Given the description of an element on the screen output the (x, y) to click on. 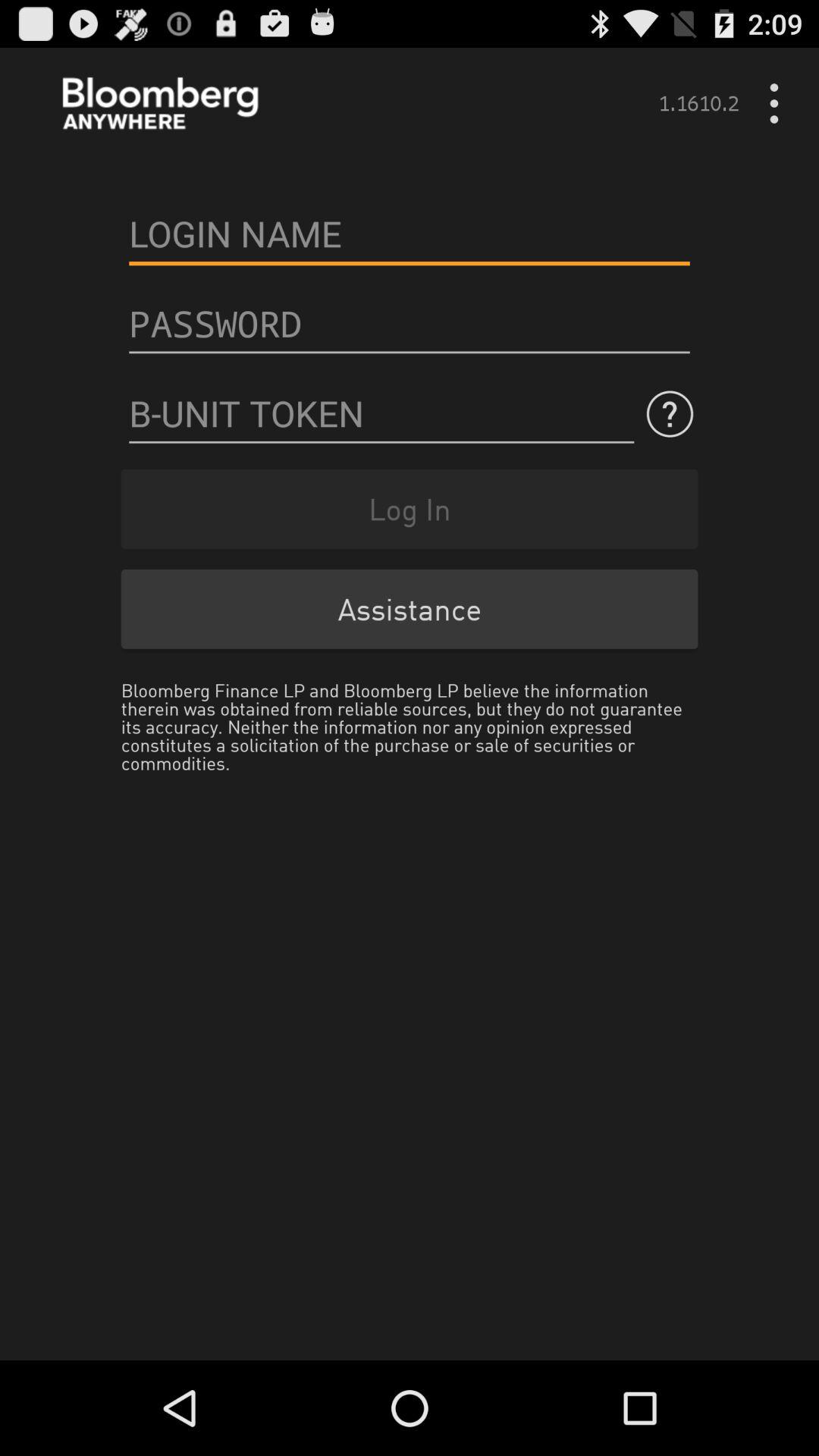
type in your login name in the field (409, 234)
